Given the description of an element on the screen output the (x, y) to click on. 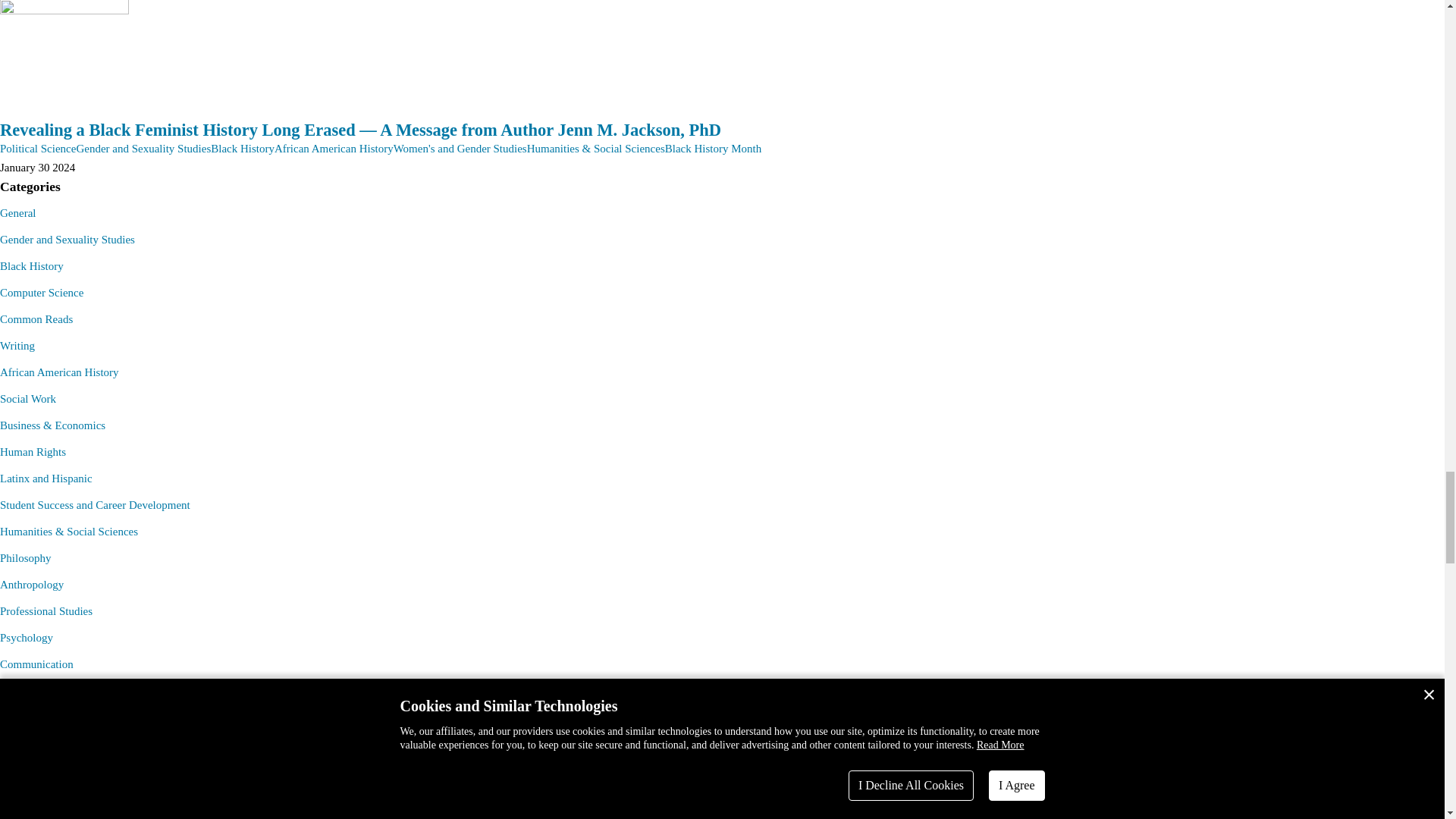
View all posts in Political Science (37, 148)
View all posts in African American History (334, 148)
View all posts in Black History Month (713, 148)
View all posts in Black History (243, 148)
View all posts in Gender and Sexuality Studies (143, 148)
View all posts in Women's and Gender Studies (460, 148)
